Given the description of an element on the screen output the (x, y) to click on. 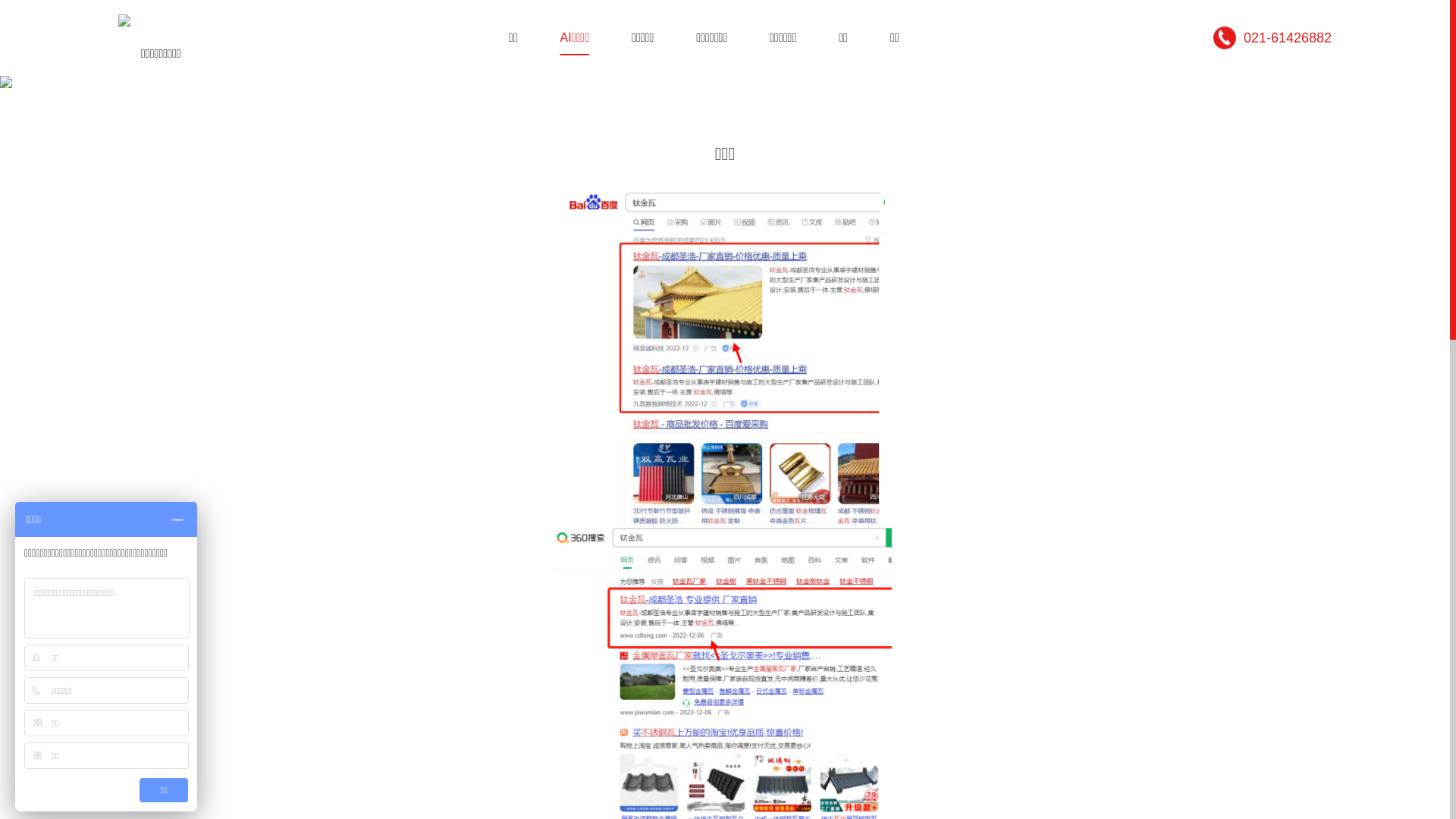
021-61426882 Element type: text (1272, 37)
